Given the description of an element on the screen output the (x, y) to click on. 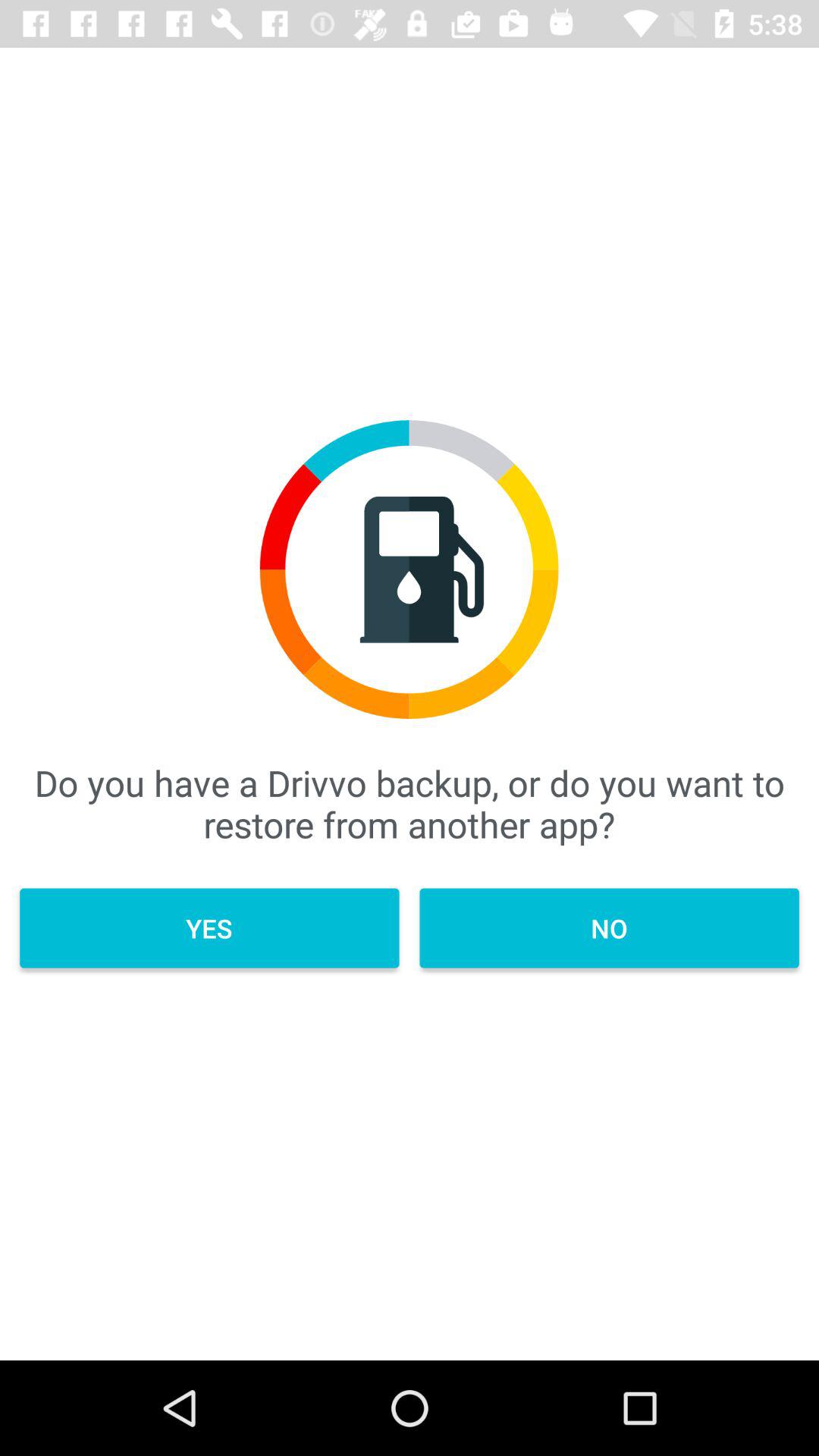
choose the icon to the left of no icon (209, 928)
